Given the description of an element on the screen output the (x, y) to click on. 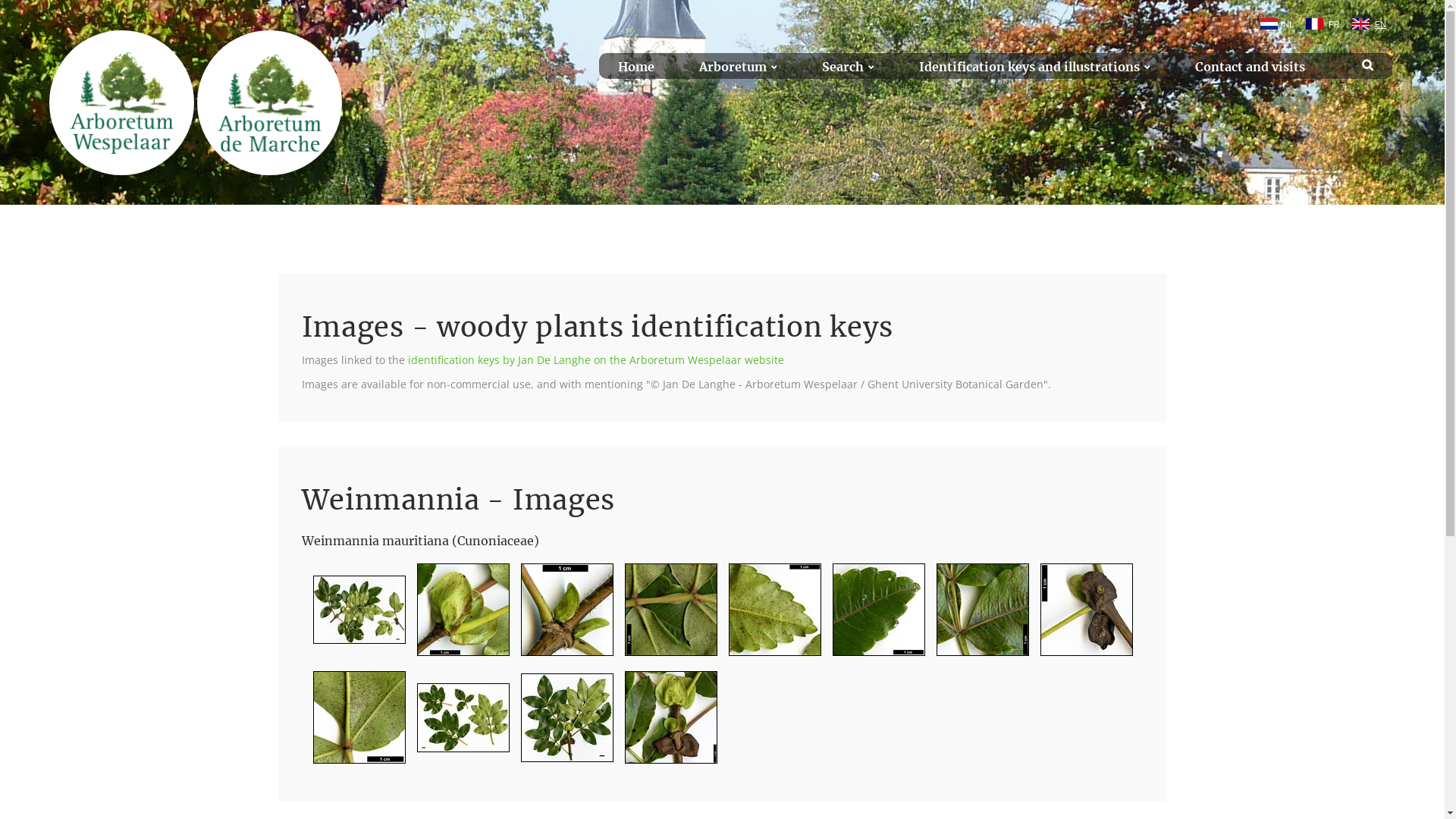
High Resolution Image:  Element type: hover (977, 615)
High Resolution Image:  Element type: hover (353, 723)
Arboretum Element type: text (738, 66)
High Resolution Image:  Element type: hover (561, 723)
Search Element type: text (848, 66)
NL Element type: text (1281, 24)
High Resolution Image:  Element type: hover (1080, 615)
Home Element type: text (636, 66)
High Resolution Image:  Element type: hover (769, 615)
High Resolution Image:  Element type: hover (872, 615)
Contact and visits Element type: text (1250, 66)
High Resolution Image:  Element type: hover (353, 615)
High Resolution Image:  Element type: hover (456, 615)
FR Element type: text (1327, 24)
High Resolution Image:  Element type: hover (664, 723)
High Resolution Image:  Element type: hover (664, 615)
Identification keys and illustrations Element type: text (1034, 66)
High Resolution Image:  Element type: hover (456, 723)
High Resolution Image:  Element type: hover (561, 615)
EN Element type: text (1373, 24)
